Given the description of an element on the screen output the (x, y) to click on. 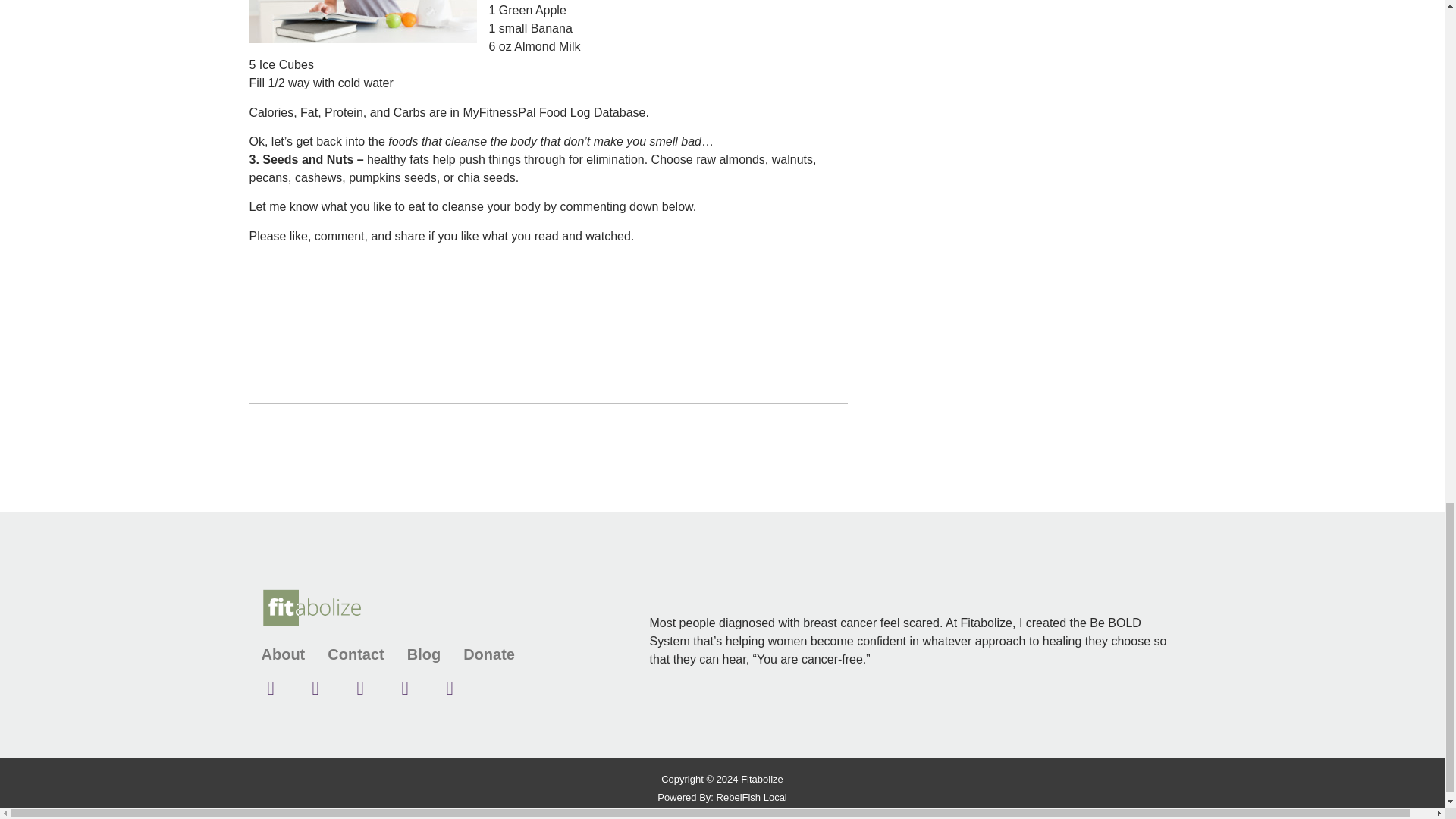
Contact (355, 654)
RebelFish Local (751, 797)
About (282, 654)
Blog (424, 654)
Foods That Cleanse The Body (362, 21)
Donate (489, 654)
